Given the description of an element on the screen output the (x, y) to click on. 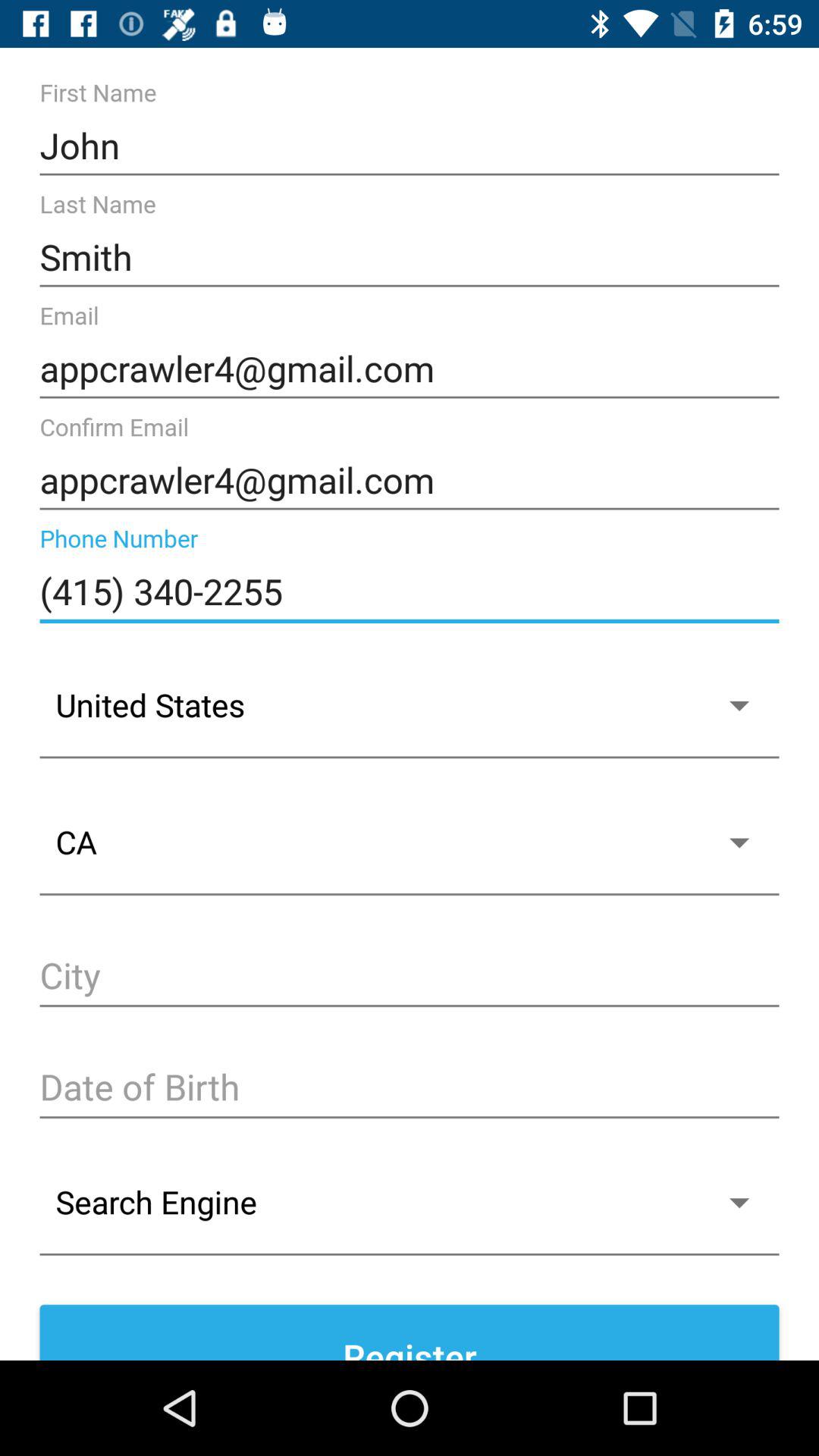
fill in date of birth field (409, 1089)
